Given the description of an element on the screen output the (x, y) to click on. 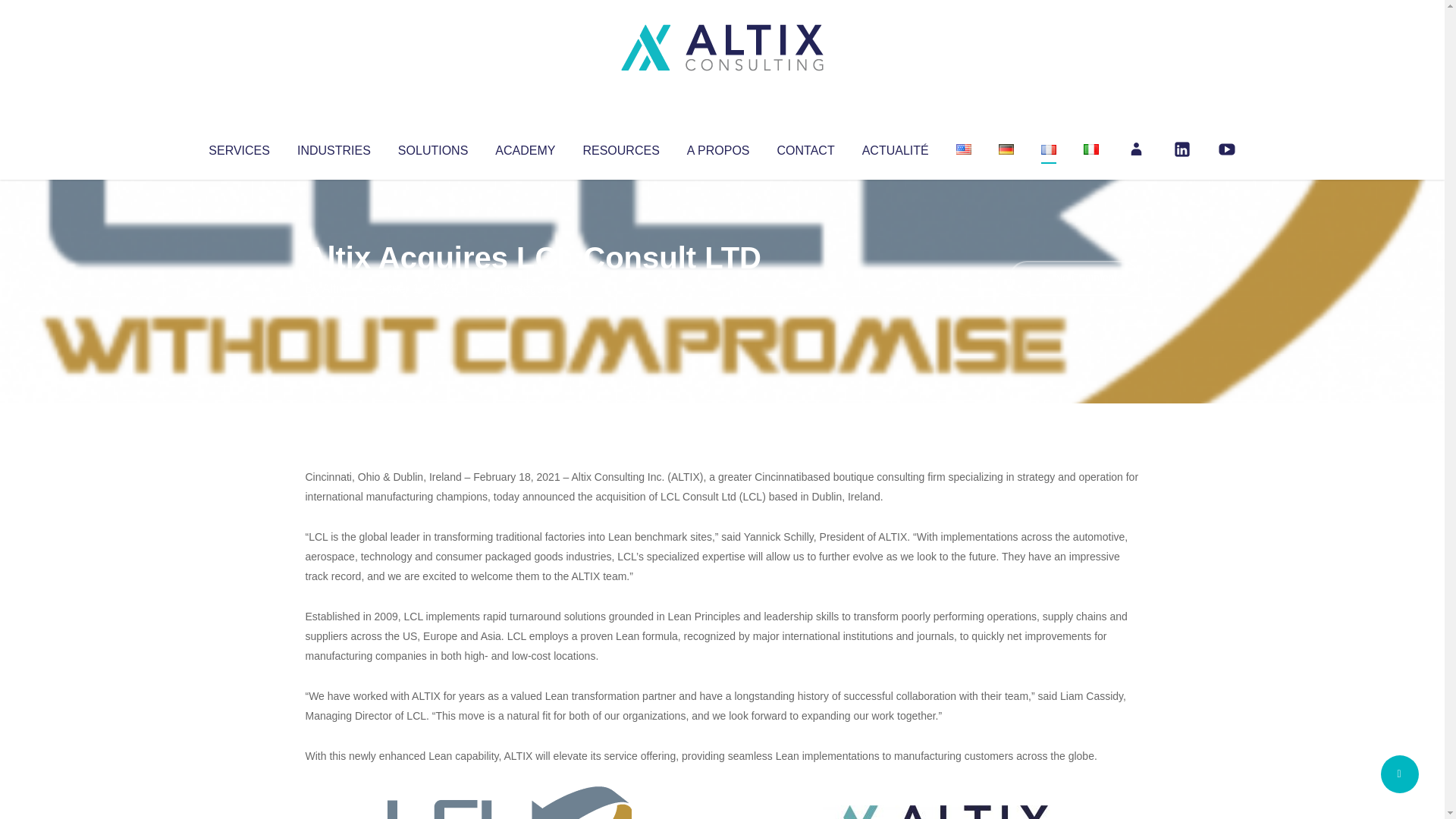
RESOURCES (620, 146)
INDUSTRIES (334, 146)
Uncategorized (530, 287)
SOLUTIONS (432, 146)
No Comments (1073, 278)
SERVICES (238, 146)
ACADEMY (524, 146)
Altix (333, 287)
A PROPOS (718, 146)
Articles par Altix (333, 287)
